Given the description of an element on the screen output the (x, y) to click on. 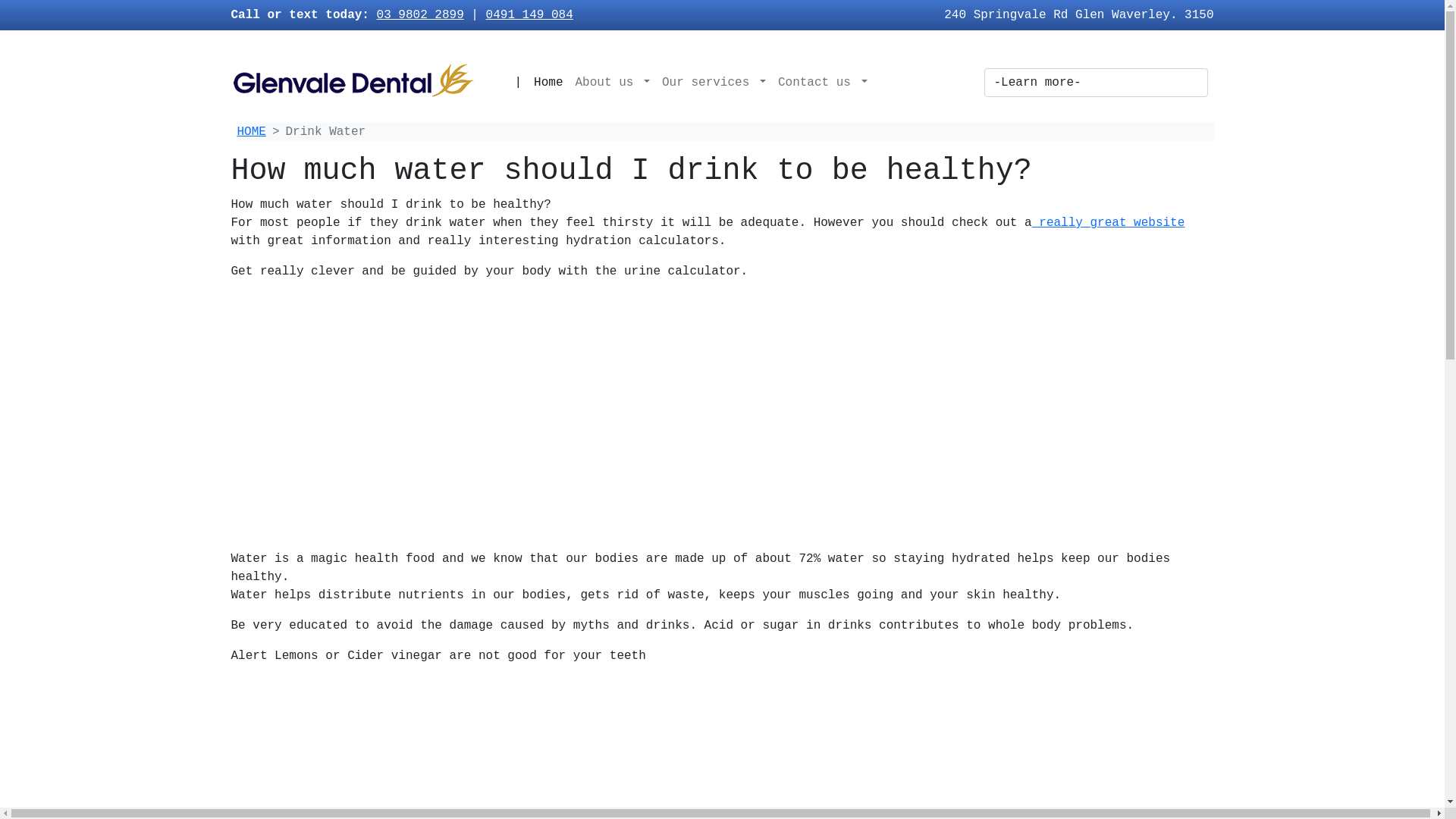
Our services Element type: text (713, 82)
| Element type: text (517, 82)
0491 149 084 Element type: text (529, 14)
About us Element type: text (612, 82)
HOME Element type: text (250, 131)
03 9802 2899 Element type: text (420, 14)
really great website Element type: text (1108, 222)
Contact us Element type: text (822, 82)
Home Element type: text (547, 82)
